Given the description of an element on the screen output the (x, y) to click on. 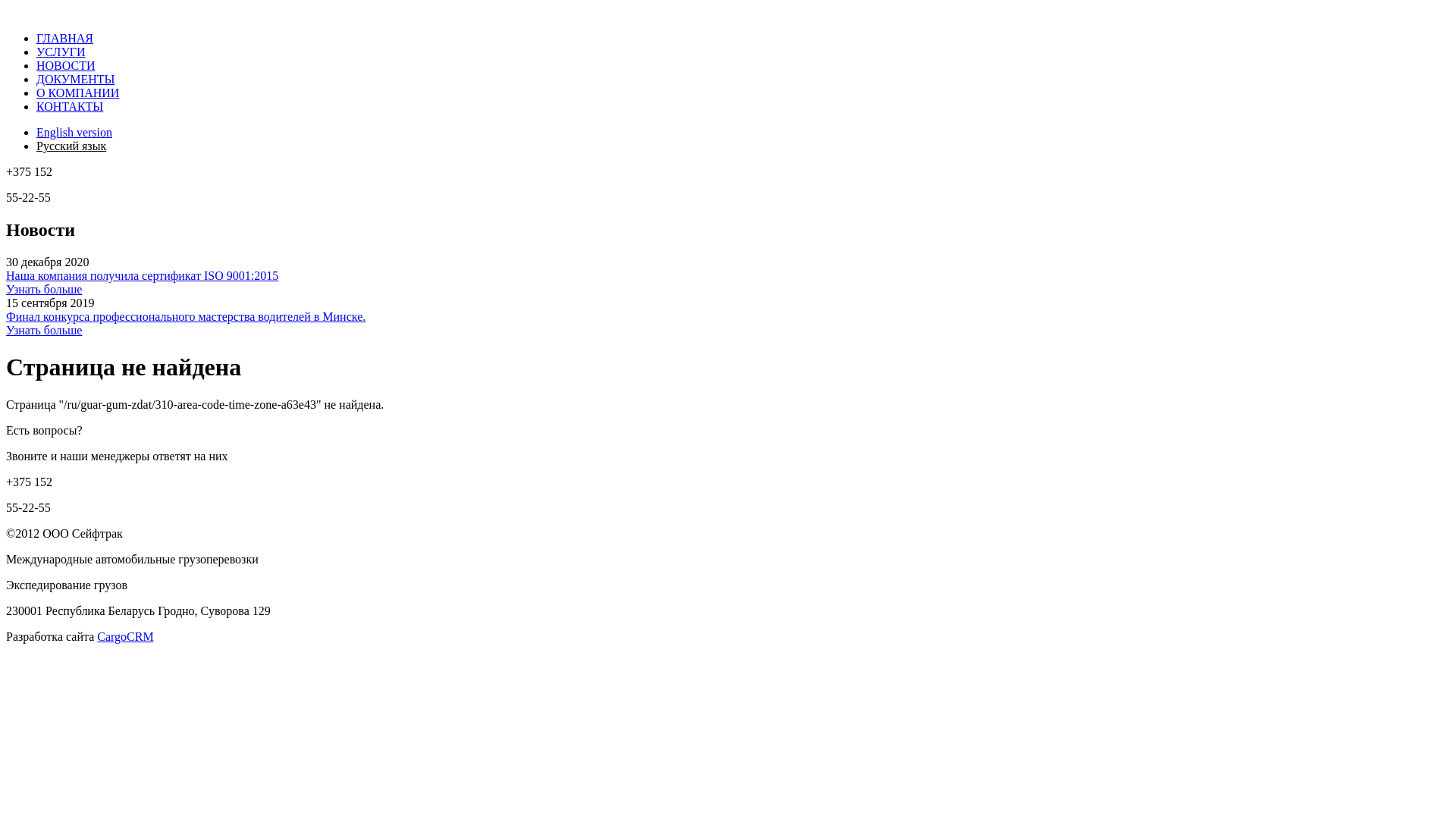
English version Element type: text (74, 131)
CargoCRM Element type: text (125, 636)
